Given the description of an element on the screen output the (x, y) to click on. 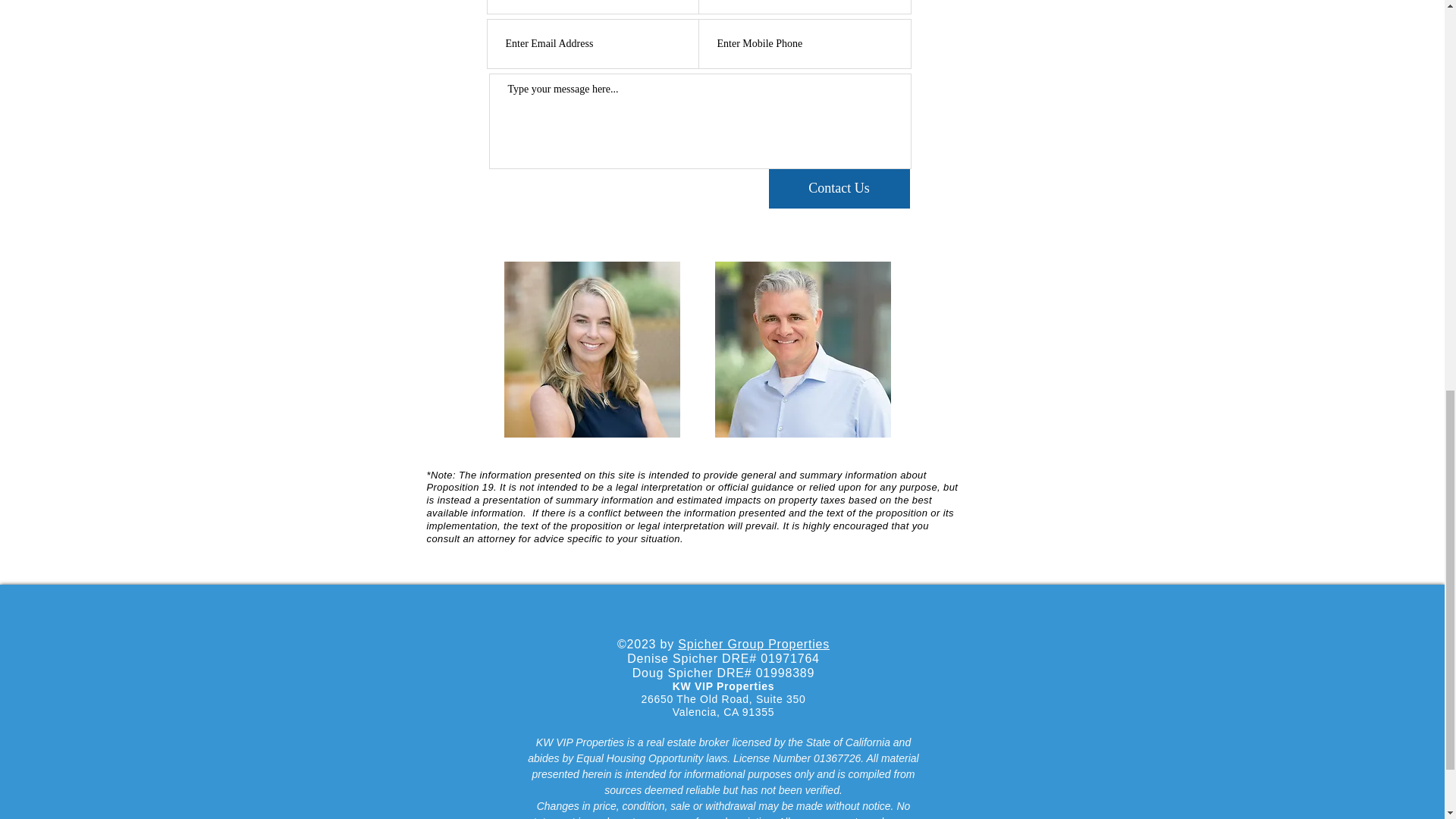
Denise Spicher - Realtor (591, 349)
Doug Spicher - Realtor (801, 349)
Contact Us (839, 188)
Spicher Group Properties (753, 644)
